Given the description of an element on the screen output the (x, y) to click on. 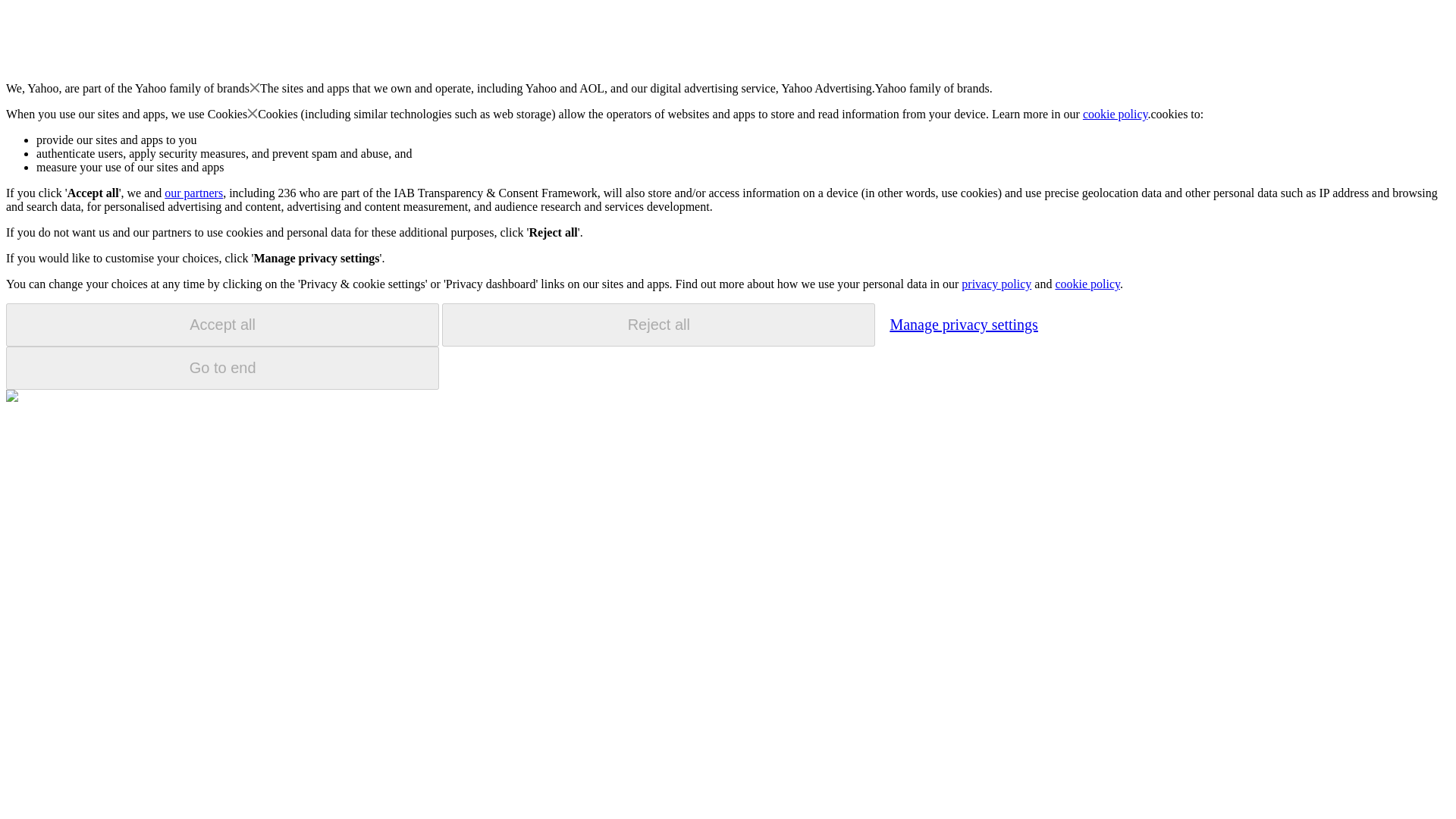
Reject all (658, 324)
cookie policy (1115, 113)
cookie policy (1086, 283)
our partners (193, 192)
Accept all (222, 324)
Manage privacy settings (963, 323)
privacy policy (995, 283)
Go to end (222, 367)
